Given the description of an element on the screen output the (x, y) to click on. 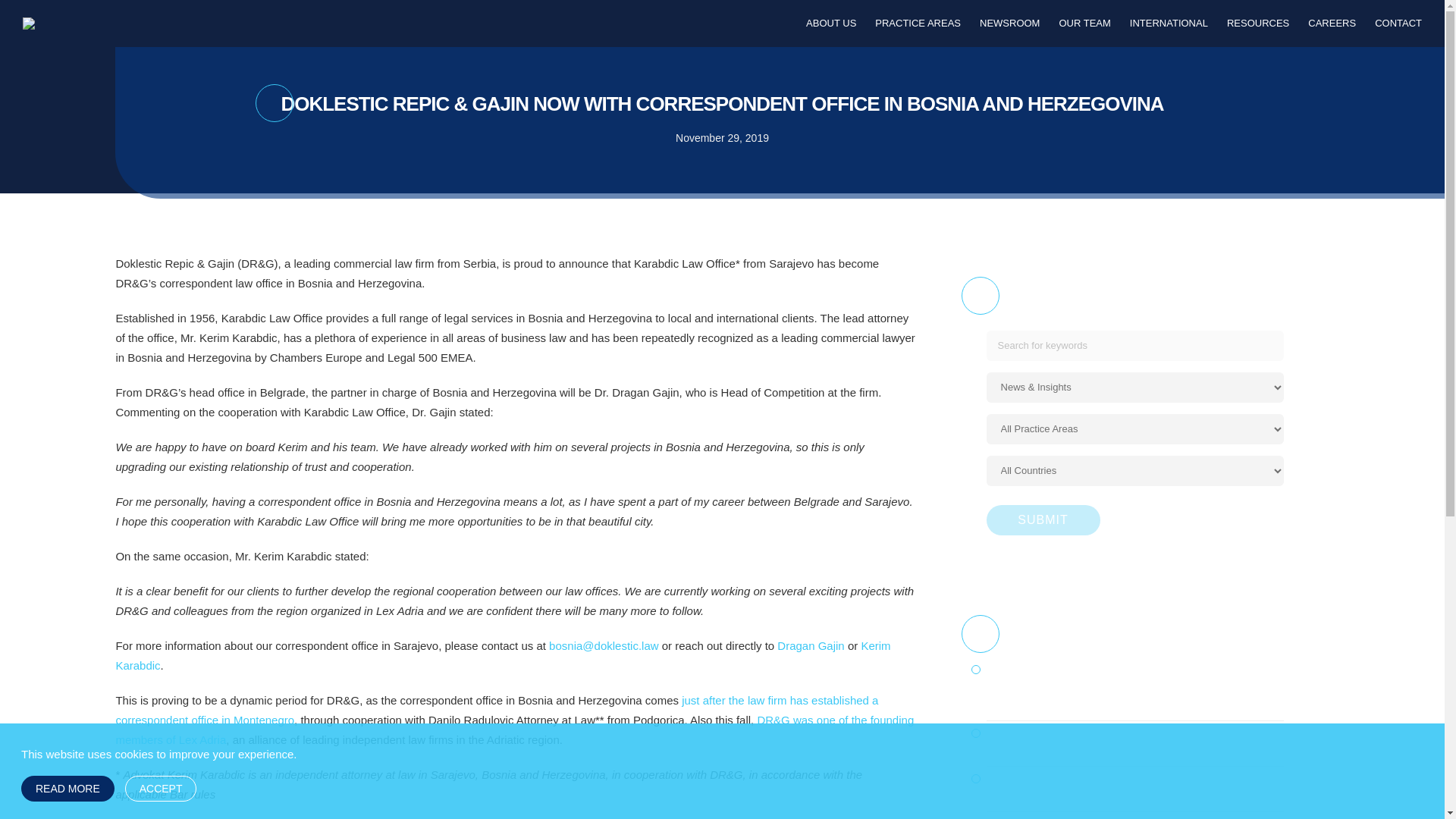
NEWSROOM (1009, 22)
RESOURCES (1257, 22)
CONTACT (1398, 22)
ABOUT US (831, 22)
PRACTICE AREAS (917, 22)
CAREERS (1331, 22)
OUR TEAM (1083, 22)
Submit (1043, 520)
INTERNATIONAL (1168, 22)
